Given the description of an element on the screen output the (x, y) to click on. 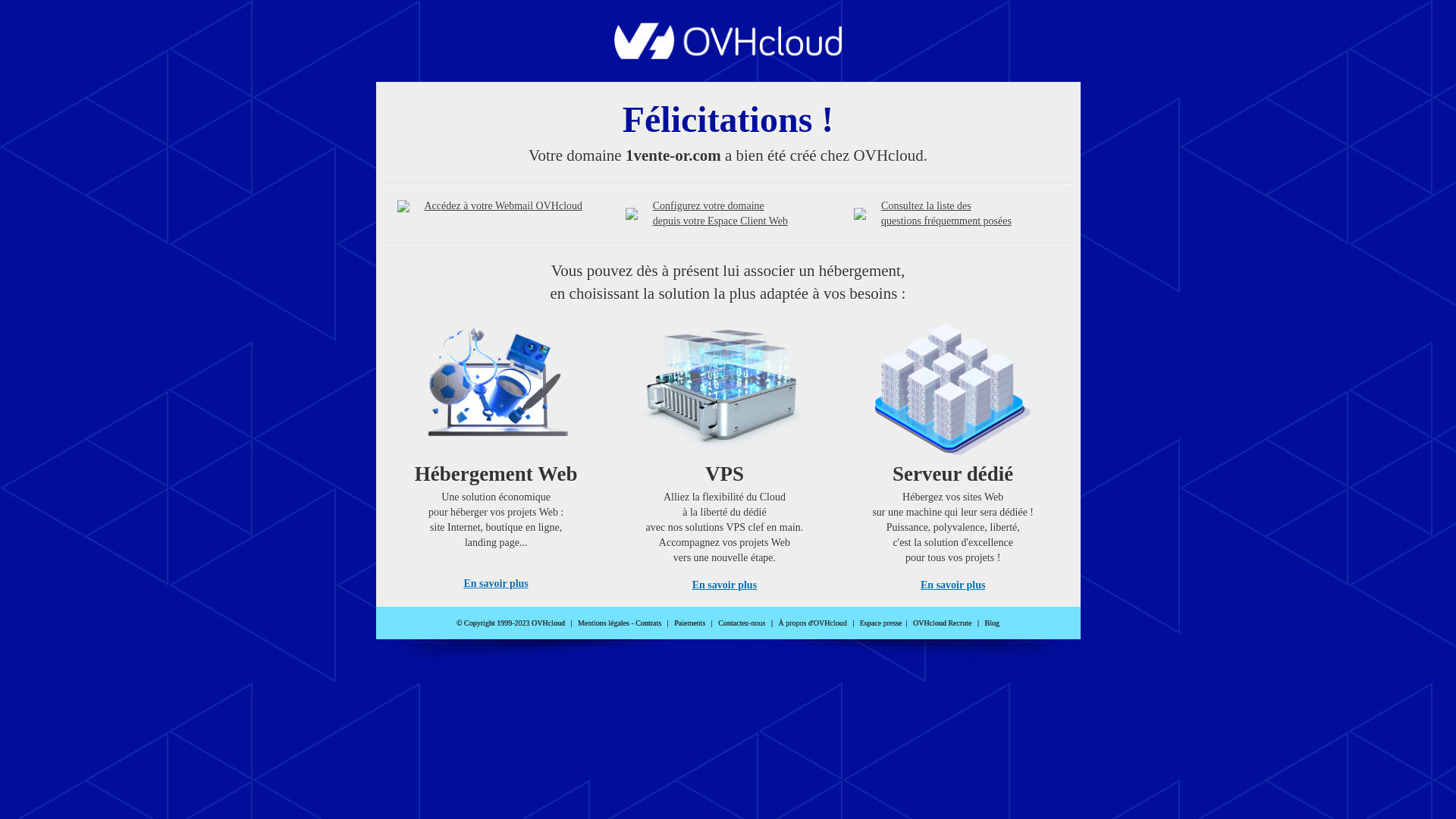
Configurez votre domaine
depuis votre Espace Client Web Element type: text (719, 213)
OVHcloud Element type: hover (727, 54)
En savoir plus Element type: text (495, 583)
Contactez-nous Element type: text (741, 622)
Espace presse Element type: text (880, 622)
En savoir plus Element type: text (724, 584)
En savoir plus Element type: text (952, 584)
VPS Element type: hover (724, 451)
OVHcloud Recrute Element type: text (942, 622)
Paiements Element type: text (689, 622)
Blog Element type: text (992, 622)
